Given the description of an element on the screen output the (x, y) to click on. 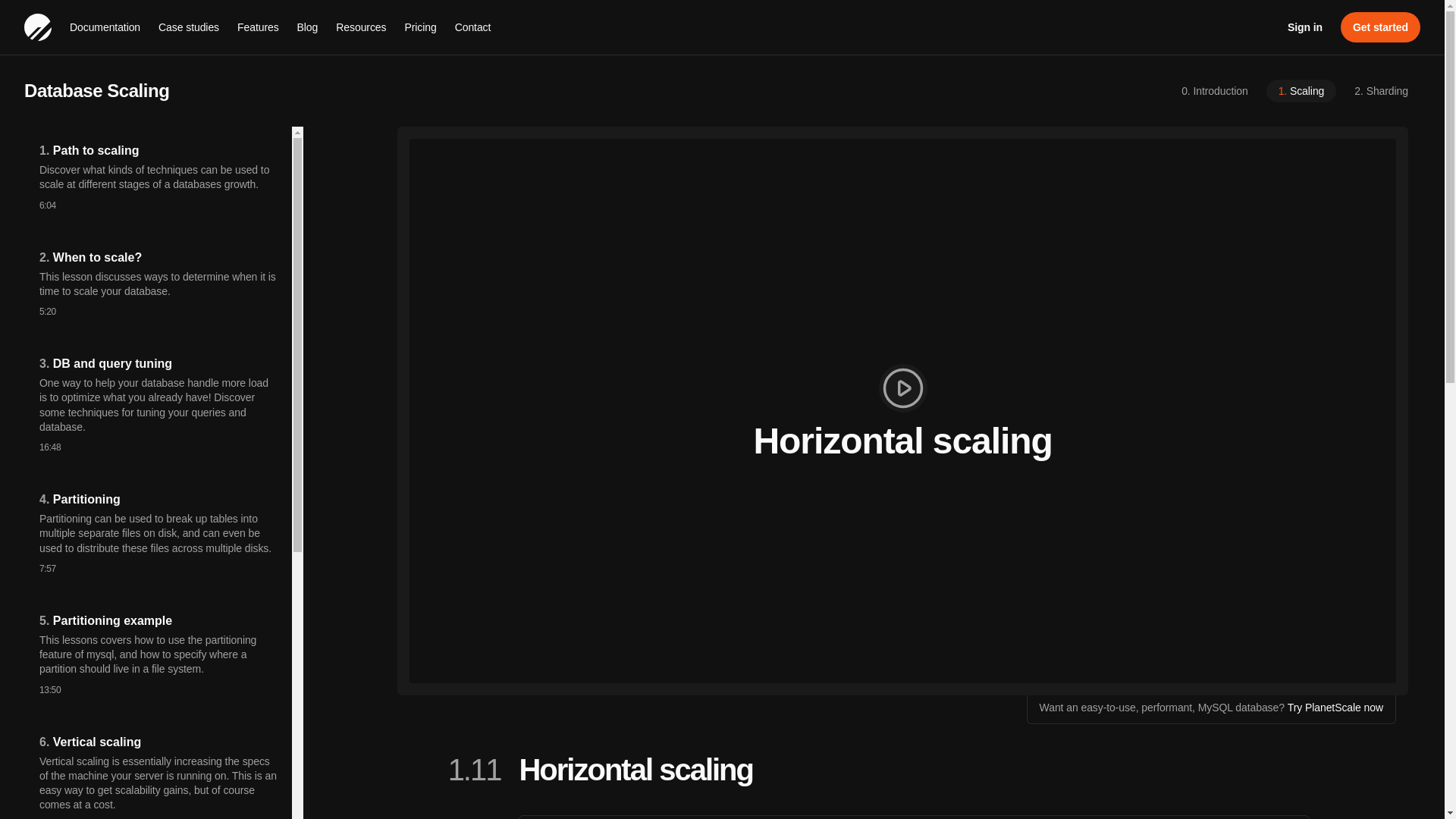
Contact (473, 27)
Database Scaling (587, 90)
Get started (1380, 27)
Resources (360, 27)
2. Sharding (1381, 90)
Pricing (419, 27)
Case studies (188, 27)
Features (258, 27)
0. Introduction (1214, 90)
Documentation (104, 27)
